Given the description of an element on the screen output the (x, y) to click on. 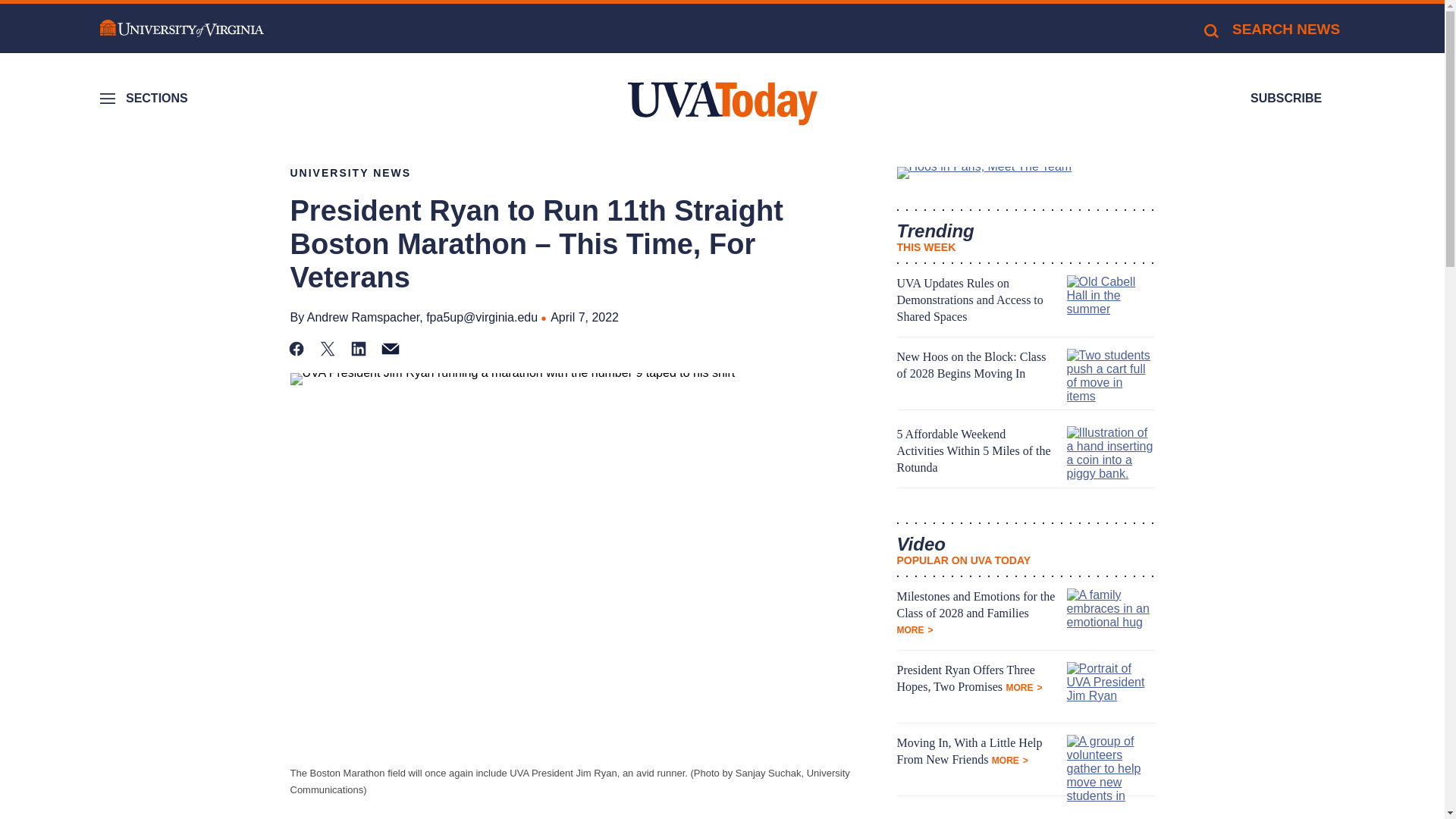
Hoos in Paris (1025, 173)
SUBSCRIBE (1286, 98)
SEARCH NEWS (1270, 28)
University of Virginia Logo (181, 28)
SECTIONS (145, 98)
Andrew Ramspacher (363, 317)
Home (721, 103)
